Given the description of an element on the screen output the (x, y) to click on. 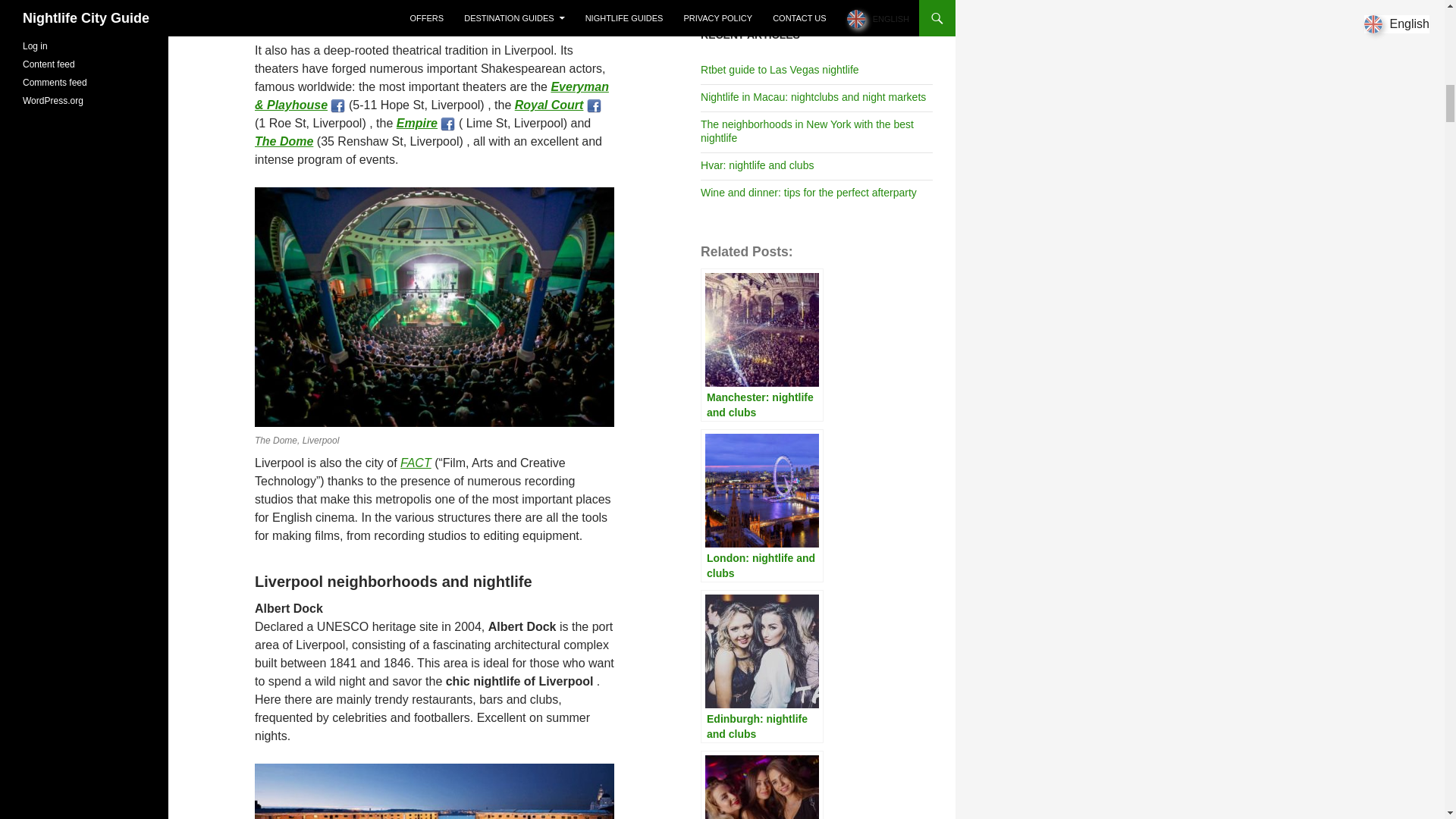
Liverpool Royal Court nightlife (549, 104)
Liverpool Albert Dock nightlife (415, 462)
Liverpool Empire nightlife (417, 123)
Liverpool nightlife The Dome (283, 141)
